Given the description of an element on the screen output the (x, y) to click on. 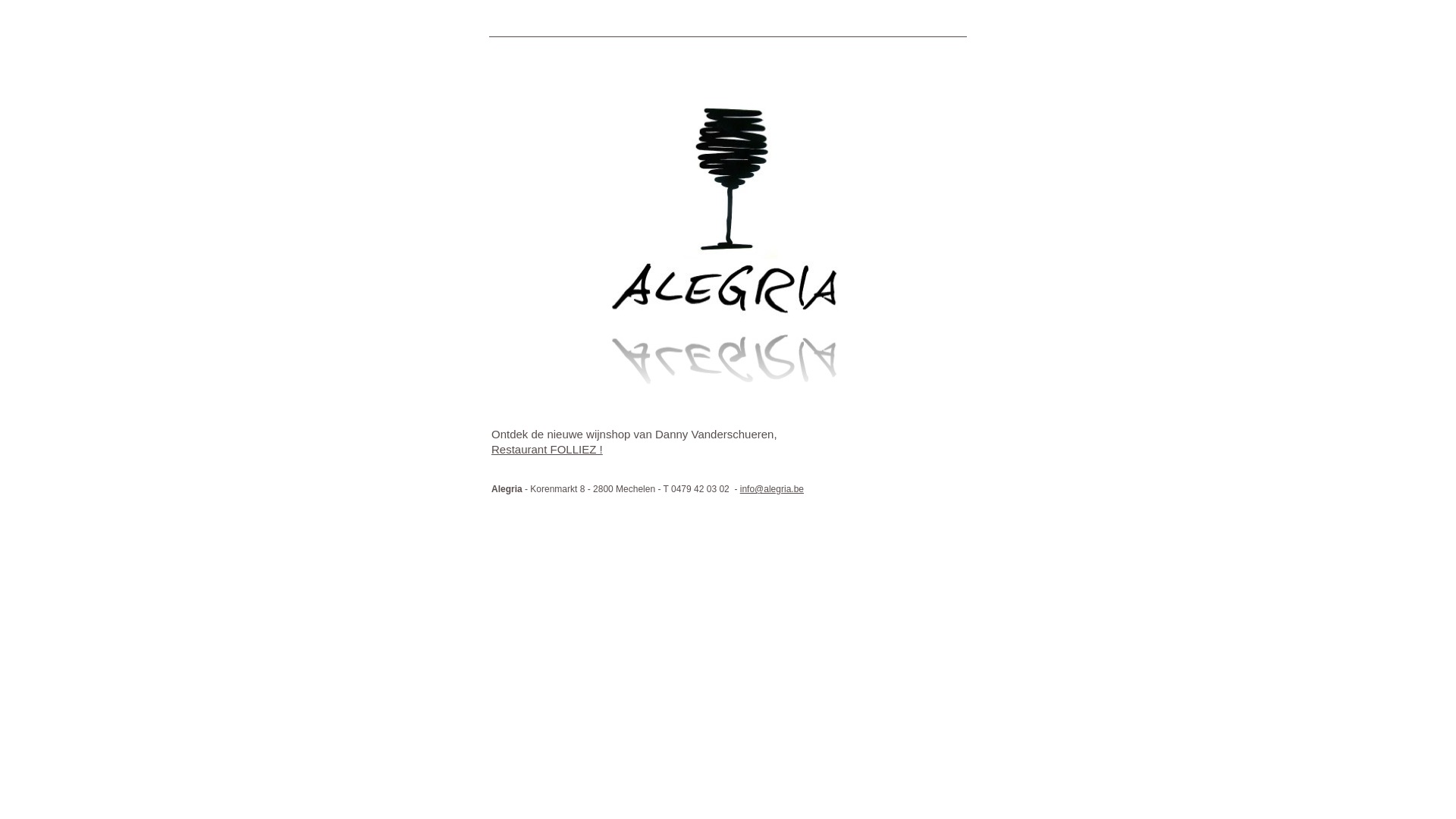
info@alegria.be Element type: text (771, 488)
Restaurant FOLLIEZ ! Element type: text (546, 448)
